Given the description of an element on the screen output the (x, y) to click on. 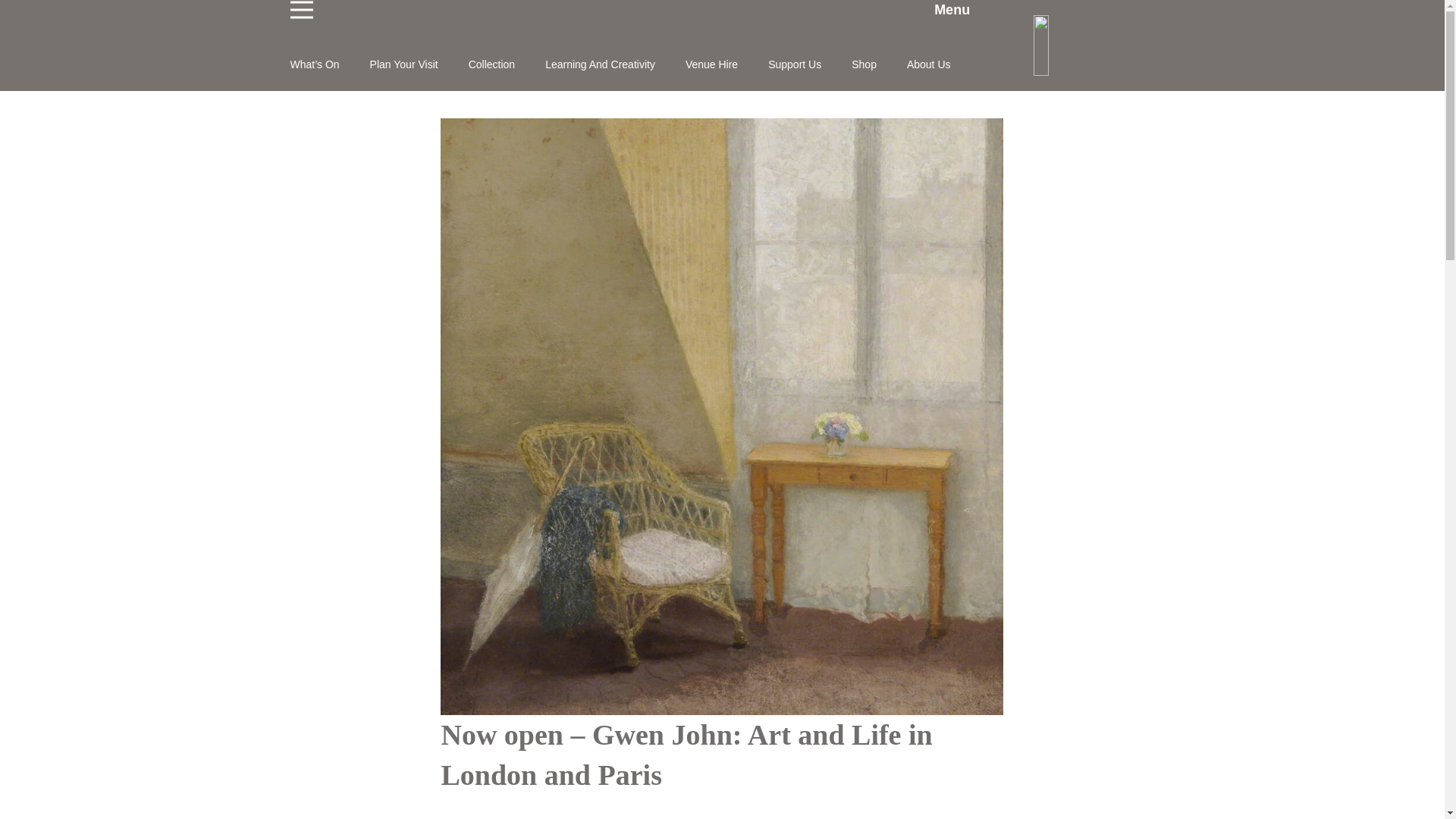
Collection (506, 63)
Learning And Creativity (614, 63)
Menu (629, 14)
Venue Hire (726, 63)
Plan Your Visit (418, 63)
